Given the description of an element on the screen output the (x, y) to click on. 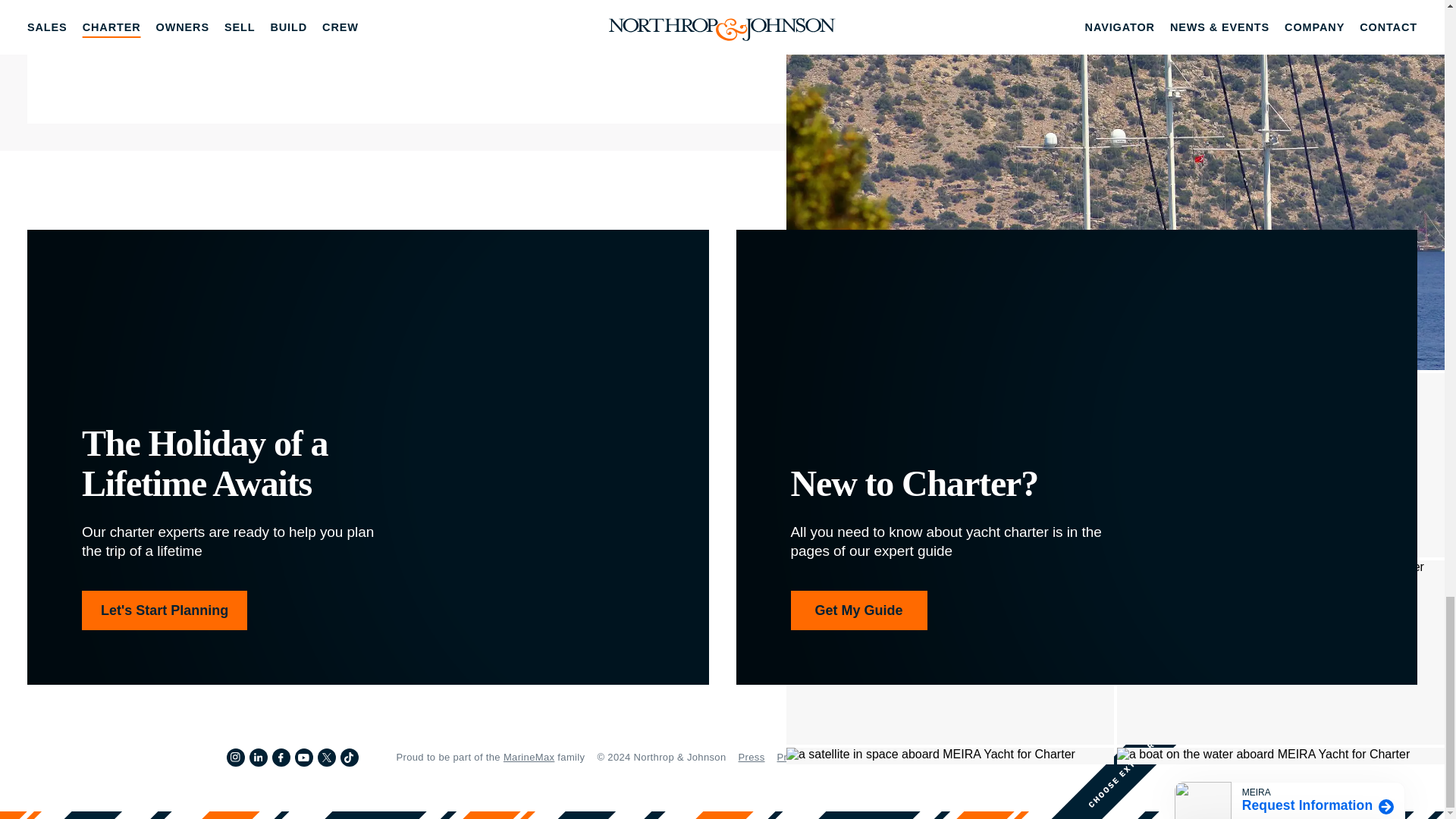
Facebook (279, 757)
LinkedIn (257, 757)
Instagram (234, 757)
Twitter (325, 757)
YouTube (303, 757)
TikTok (348, 757)
